Given the description of an element on the screen output the (x, y) to click on. 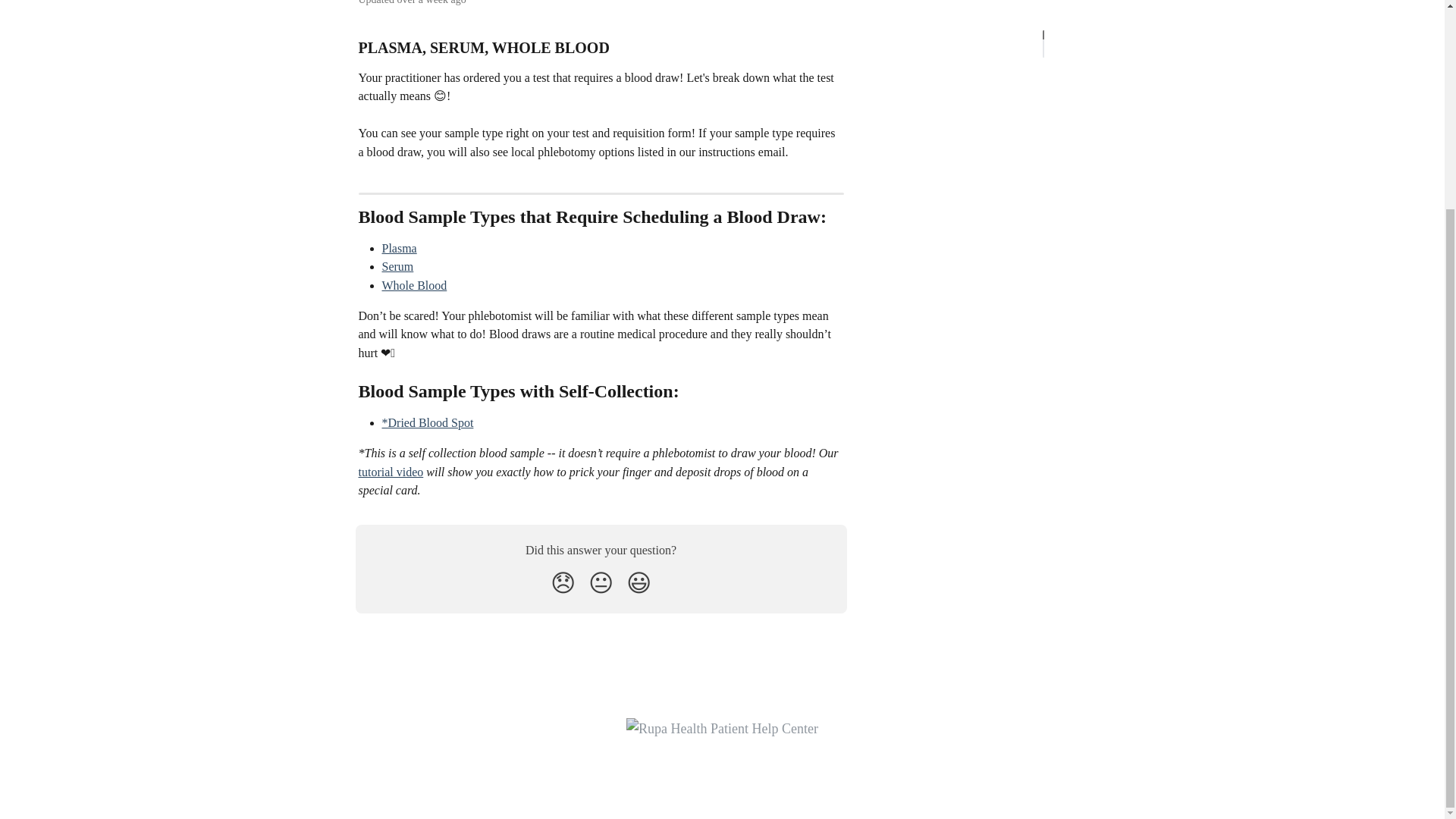
Neutral (600, 583)
Serum (397, 266)
Smiley (638, 583)
Disappointed (562, 583)
Plasma (398, 247)
Whole Blood (413, 285)
tutorial video (390, 472)
